Given the description of an element on the screen output the (x, y) to click on. 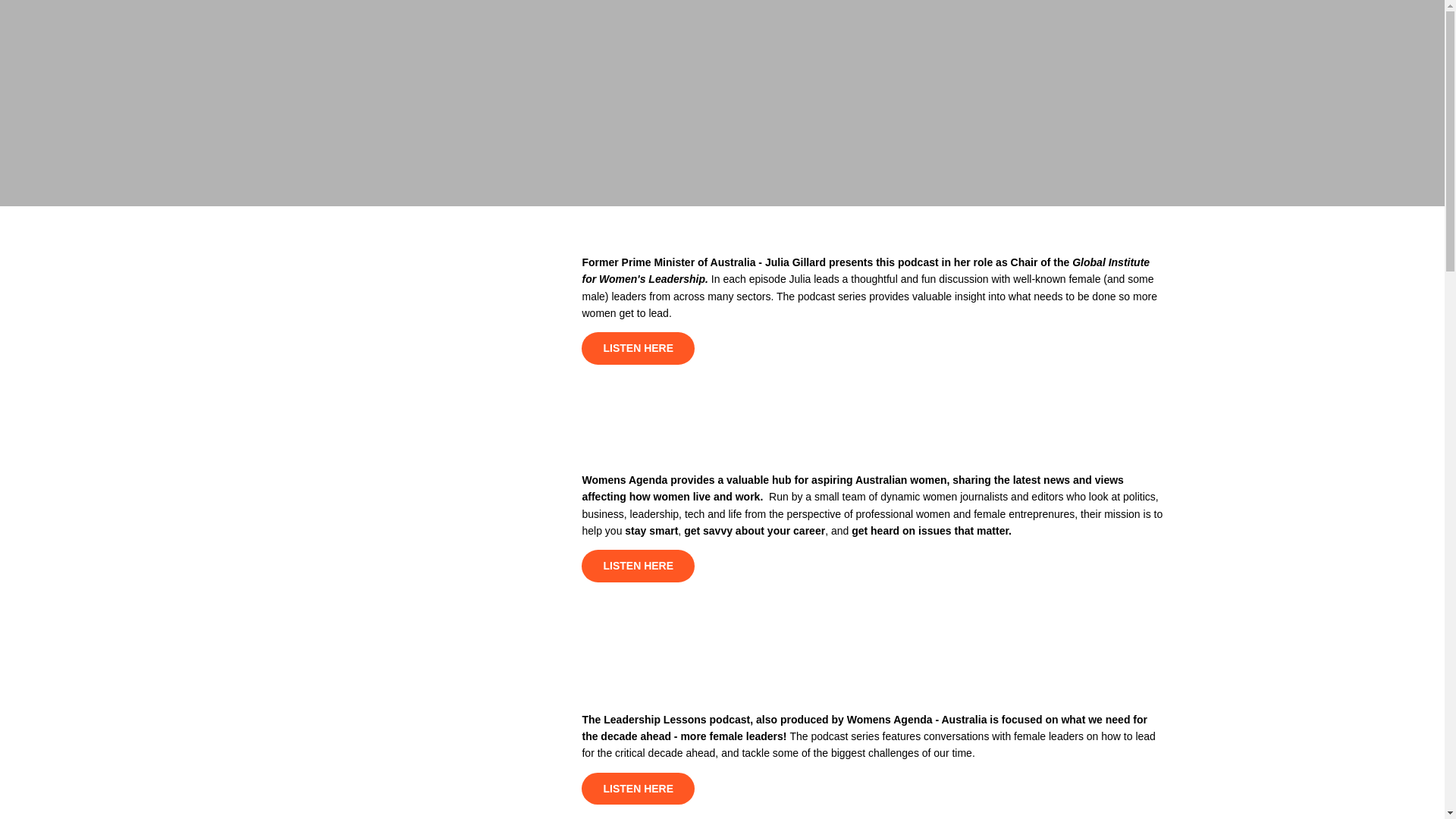
LISTEN HERE (637, 565)
LISTEN HERE (637, 789)
LISTEN HERE (637, 348)
